Given the description of an element on the screen output the (x, y) to click on. 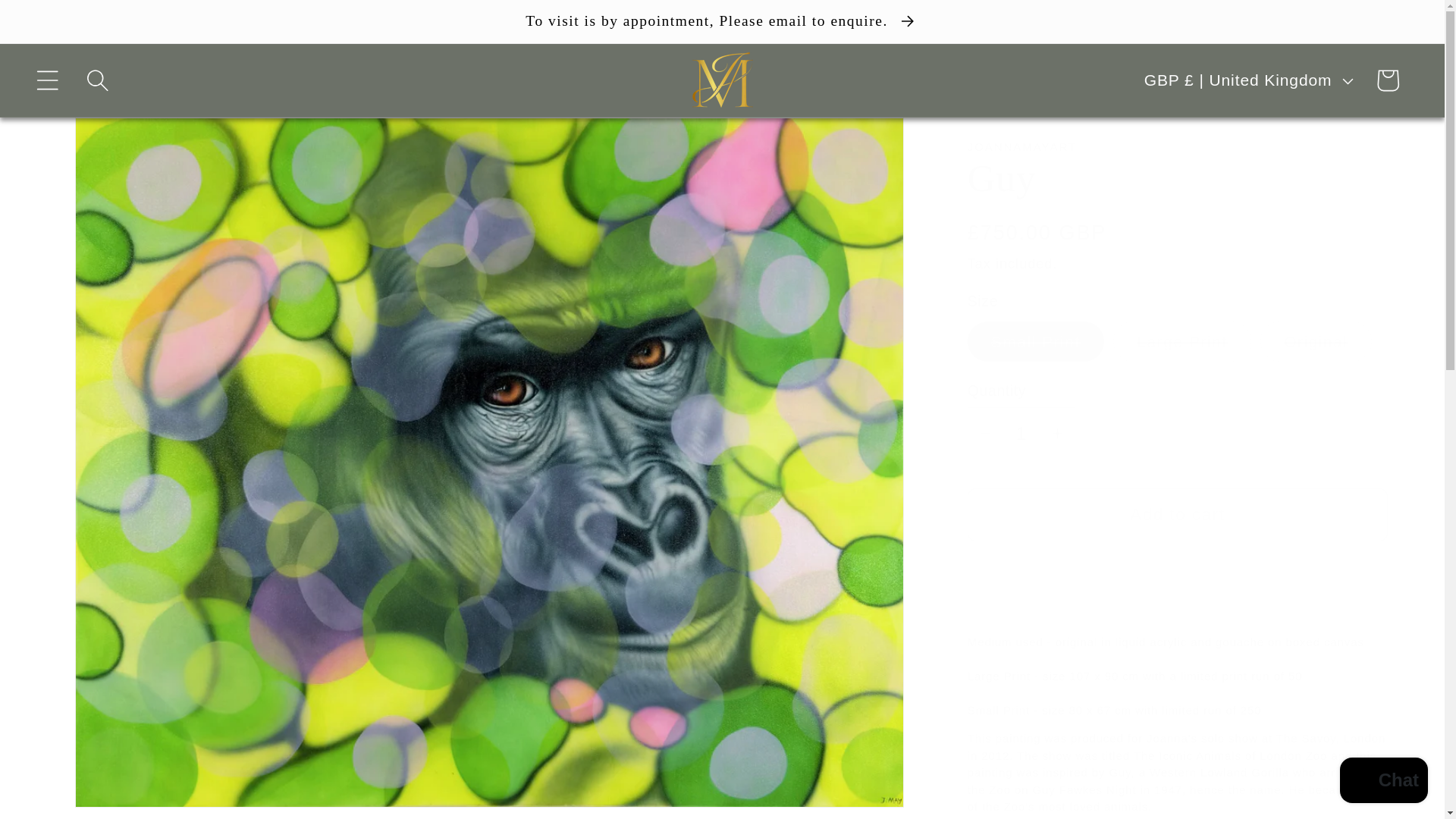
Skip to product information (124, 143)
Shopify online store chat (1383, 781)
Skip to content (68, 26)
Cart (1387, 80)
To visit is by appointment, Please email to enquire.  (721, 21)
